Given the description of an element on the screen output the (x, y) to click on. 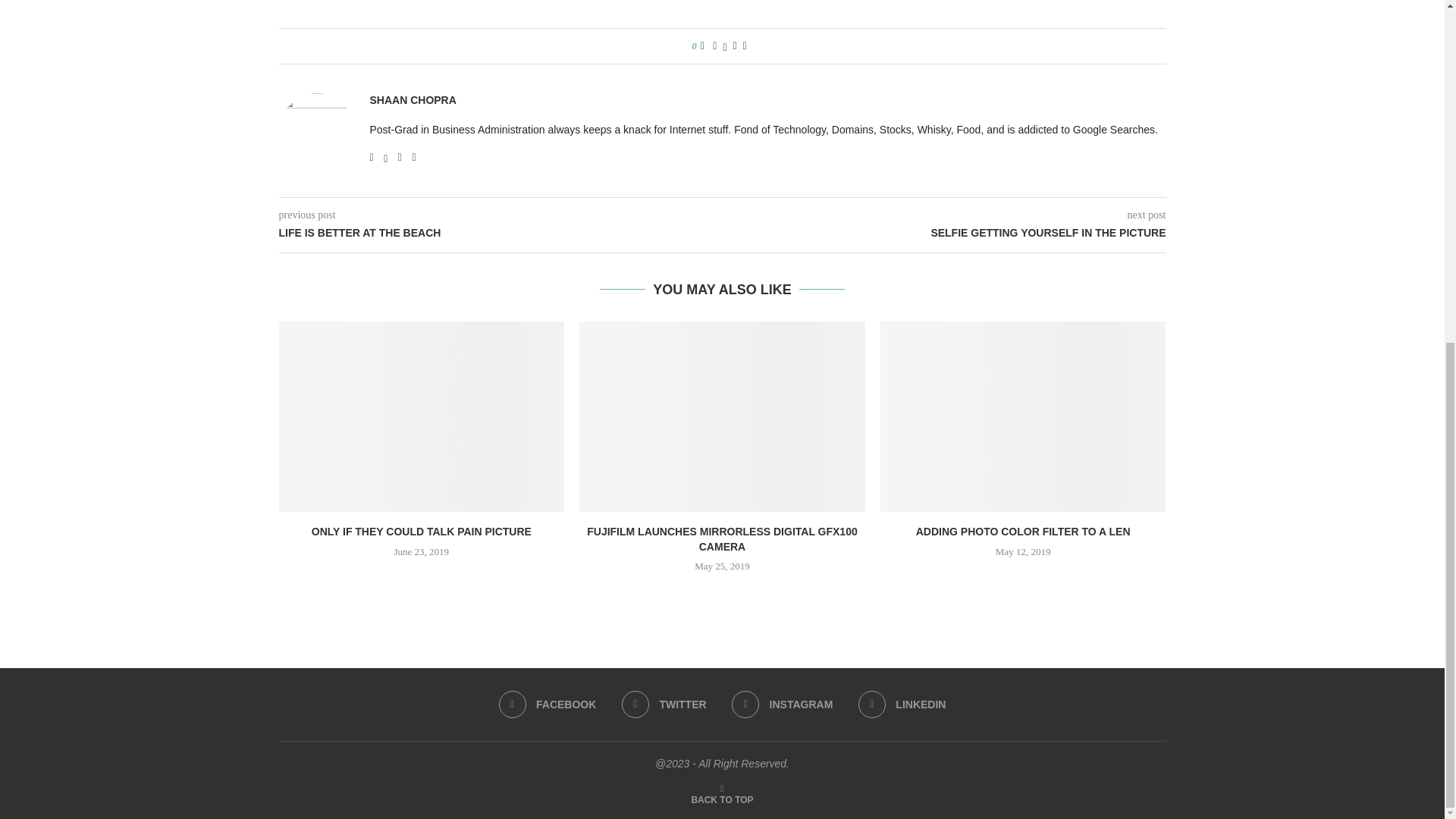
SELFIE GETTING YOURSELF IN THE PICTURE (944, 233)
Fujifilm Launches Mirrorless Digital GFX100 Camera (721, 416)
FUJIFILM LAUNCHES MIRRORLESS DIGITAL GFX100 CAMERA (721, 538)
ONLY IF THEY COULD TALK PAIN PICTURE (421, 531)
LIFE IS BETTER AT THE BEACH (500, 233)
Only if they could talk pain picture (421, 416)
Adding Photo Color Filter to A Len (1023, 416)
ADDING PHOTO COLOR FILTER TO A LEN (1023, 531)
SHAAN CHOPRA (413, 100)
Author Shaan Chopra (413, 100)
